Given the description of an element on the screen output the (x, y) to click on. 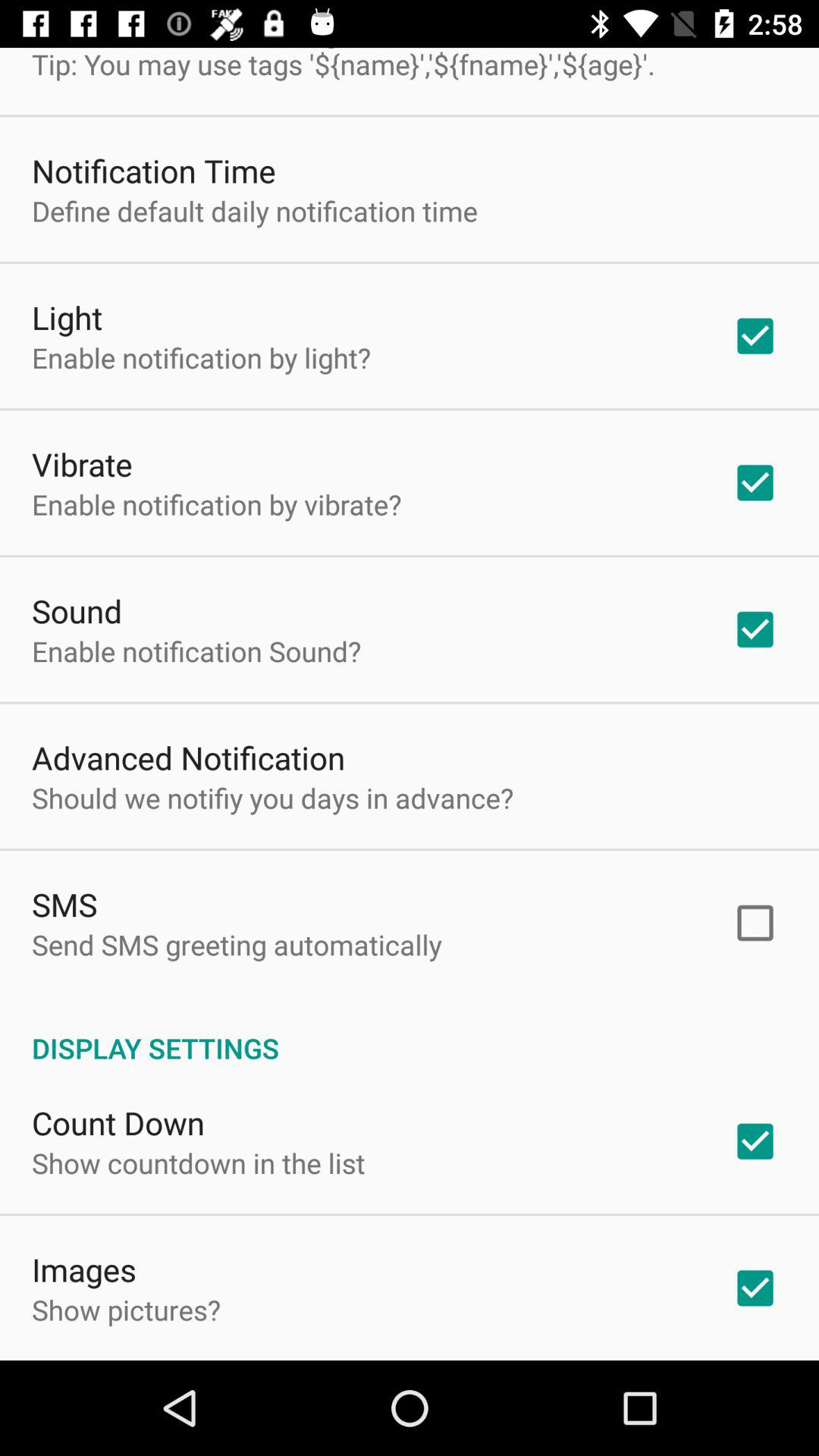
turn on icon below the display settings (117, 1122)
